Given the description of an element on the screen output the (x, y) to click on. 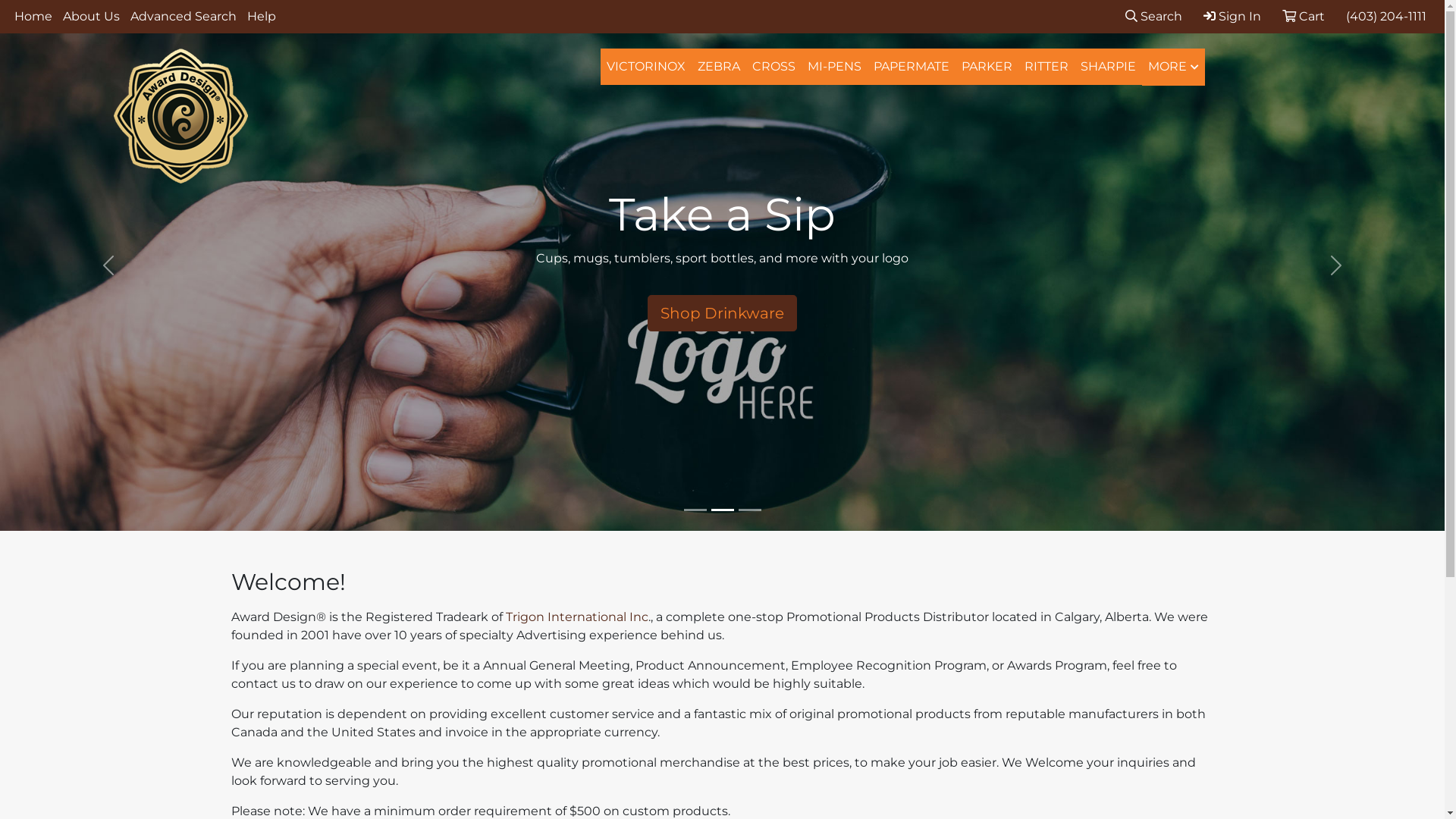
MI-PENS Element type: text (834, 66)
Next Element type: text (1335, 265)
RITTER Element type: text (1046, 66)
Home Element type: text (33, 16)
PARKER Element type: text (986, 66)
CROSS Element type: text (773, 66)
(403) 204-1111 Element type: text (1385, 16)
ZEBRA Element type: text (718, 66)
Shop Drinkware Element type: text (722, 312)
Trigon International Inc Element type: text (576, 616)
Advanced Search Element type: text (183, 16)
About Us Element type: text (91, 16)
VICTORINOX Element type: text (645, 66)
PAPERMATE Element type: text (911, 66)
MORE Element type: text (1173, 66)
Sign In Element type: text (1232, 16)
Cart Element type: text (1303, 16)
Help Element type: text (261, 16)
Search Element type: text (1153, 16)
Previous Element type: text (108, 265)
SHARPIE Element type: text (1108, 66)
